Given the description of an element on the screen output the (x, y) to click on. 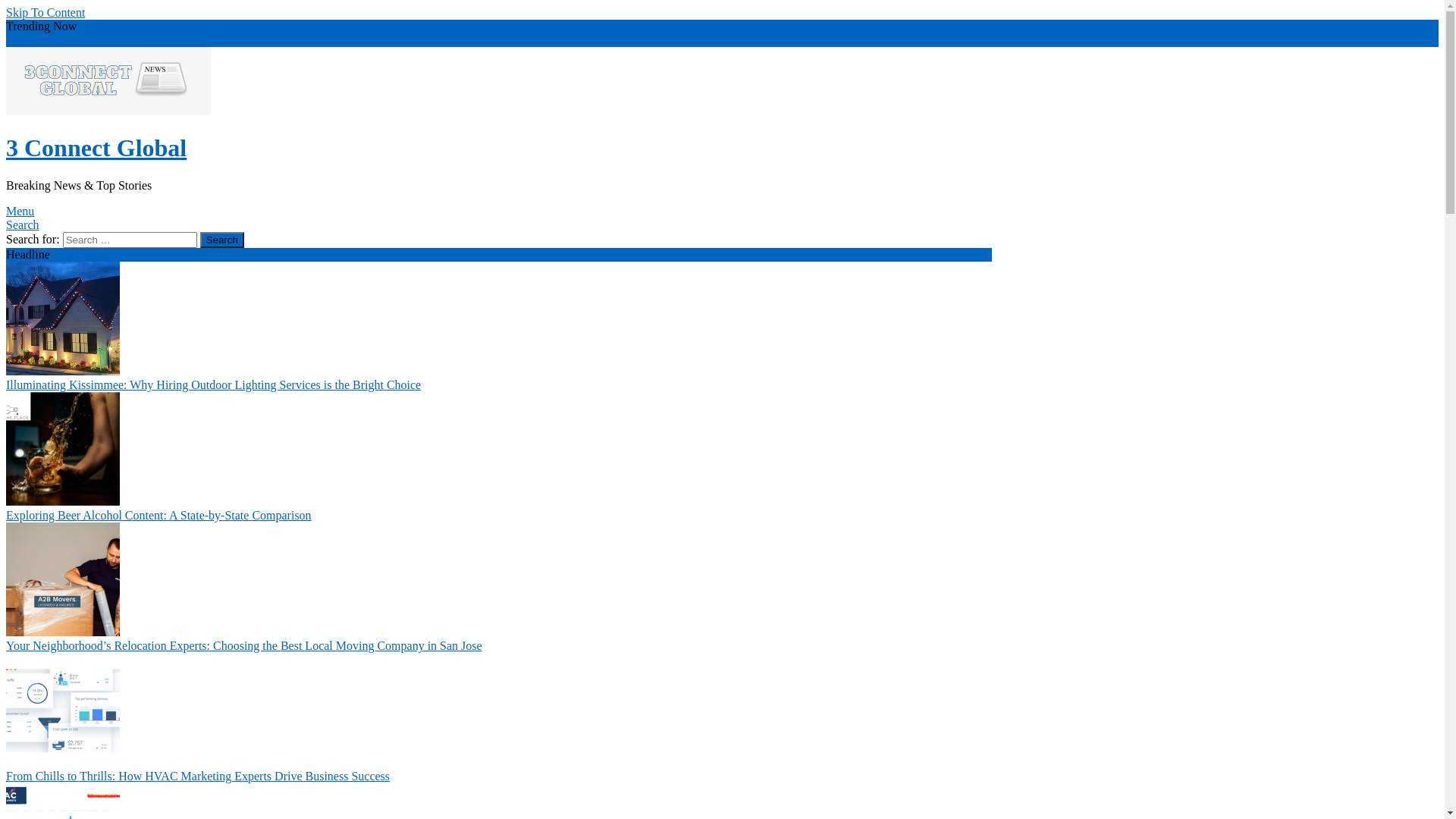
Search Element type: text (222, 239)
seo for hvac Element type: text (346, 39)
Exploring Beer Alcohol Content: A State-by-State Comparison Element type: text (158, 514)
vape flavors Element type: text (203, 39)
Search Element type: text (22, 224)
Menu Element type: text (20, 210)
truck muffler tips Element type: text (274, 39)
Skip To Content Element type: text (45, 12)
semi truck exhaust tips Element type: text (432, 39)
why is pure white hennessy illegal Element type: text (89, 39)
3 Connect Global Element type: text (96, 147)
